Given the description of an element on the screen output the (x, y) to click on. 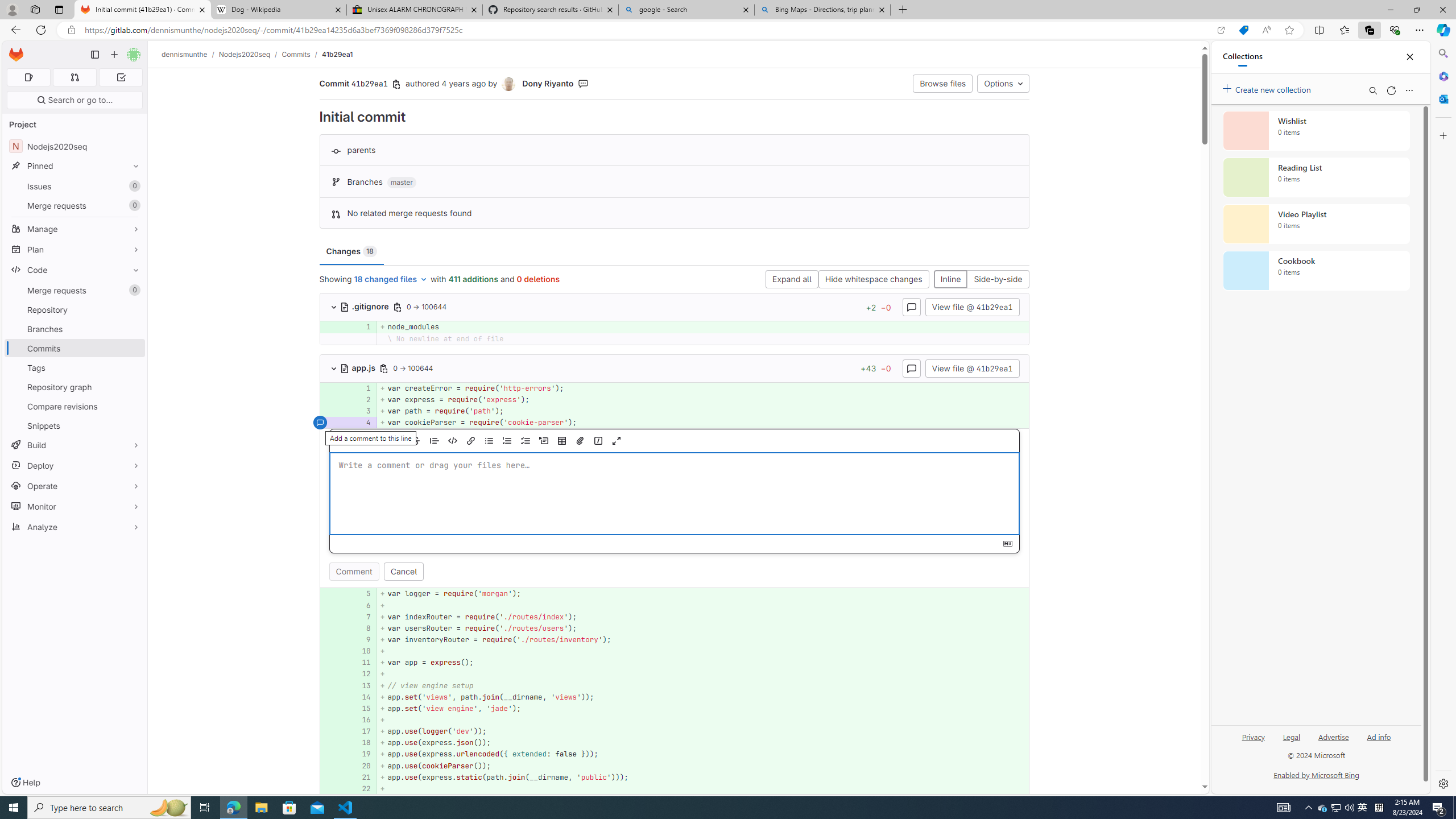
Deploy (74, 465)
+ var app = express();  (703, 662)
2 (362, 399)
Class: div-dropzone-icon s24 (672, 493)
Class: s16 chevron-down (333, 368)
10 (362, 651)
AutomationID: 4a68969ef8e858229267b842dedf42ab5dde4d50_0_17 (674, 731)
17 (362, 731)
11 (360, 662)
19 (362, 754)
AutomationID: 4a68969ef8e858229267b842dedf42ab5dde4d50_0_16 (674, 720)
Monitor (74, 506)
